Given the description of an element on the screen output the (x, y) to click on. 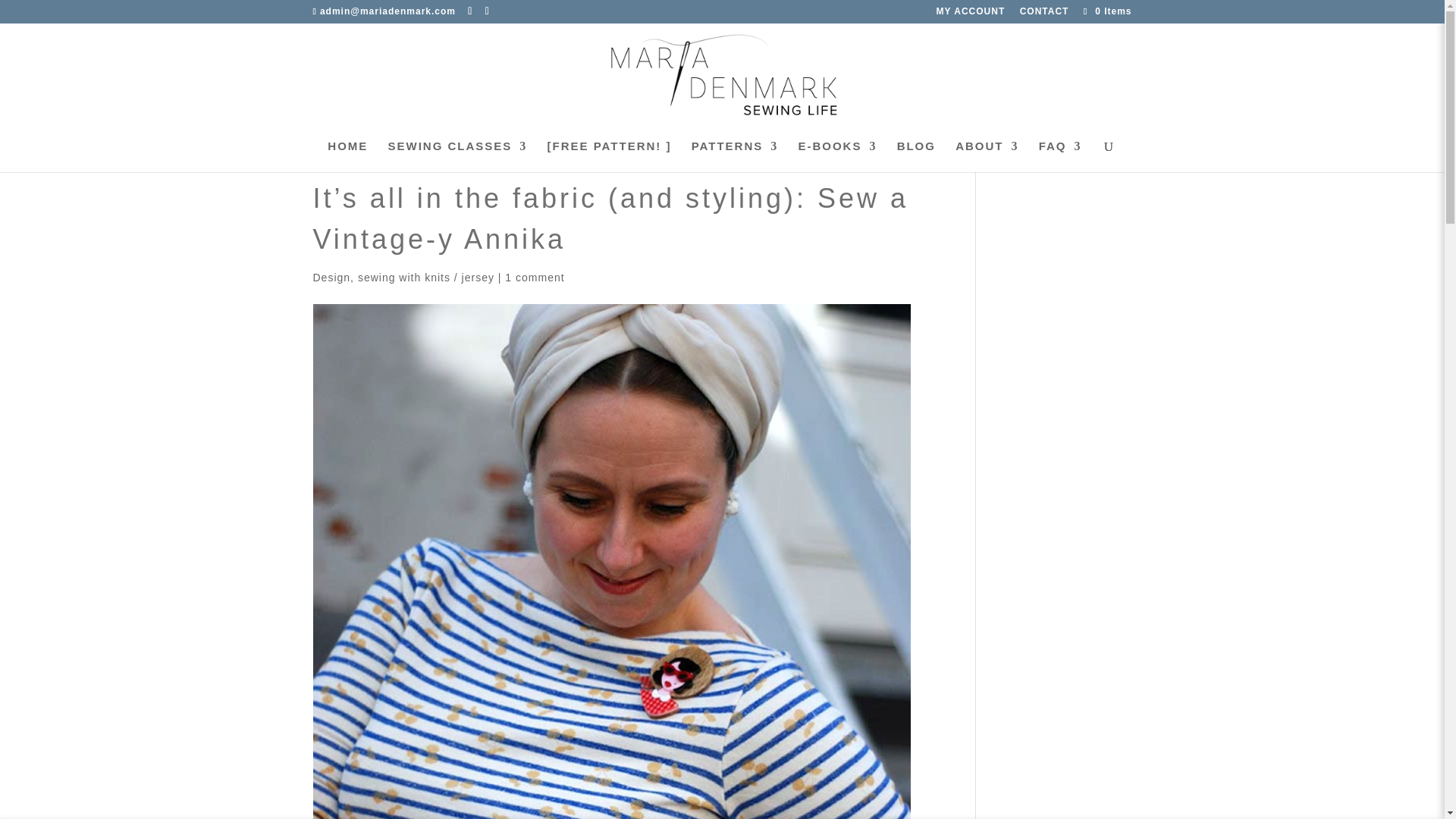
MY ACCOUNT (971, 14)
BLOG (916, 155)
FAQ (1060, 155)
ABOUT (986, 155)
CONTACT (1044, 14)
0 Items (1105, 10)
HOME (347, 155)
SEWING CLASSES (457, 155)
PATTERNS (734, 155)
E-BOOKS (836, 155)
